Given the description of an element on the screen output the (x, y) to click on. 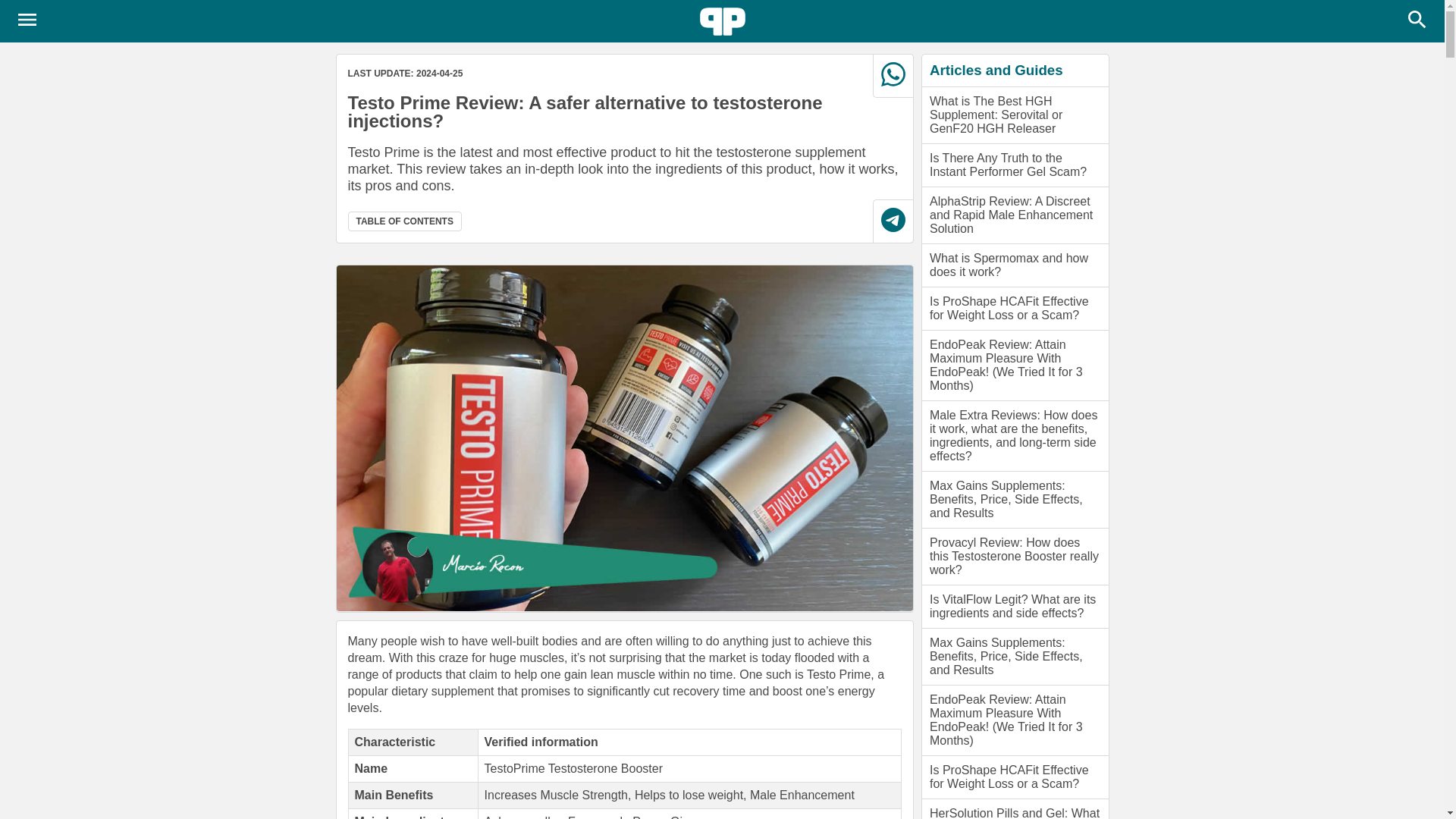
WhatsApp (892, 75)
TABLE OF CONTENTS (404, 220)
Telegram (892, 221)
Telegram (892, 219)
